Given the description of an element on the screen output the (x, y) to click on. 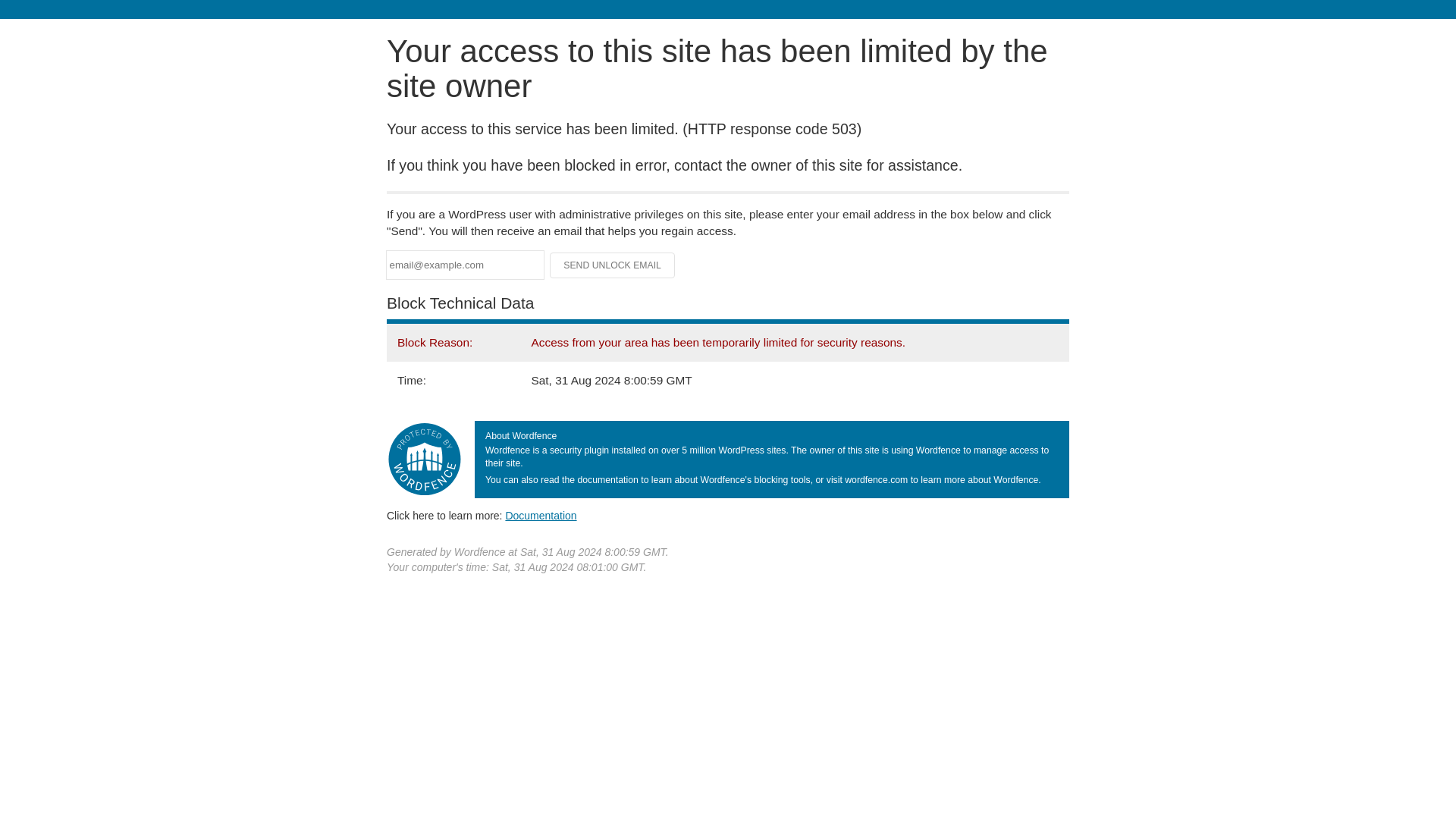
Documentation (540, 515)
Send Unlock Email (612, 265)
Send Unlock Email (612, 265)
